Given the description of an element on the screen output the (x, y) to click on. 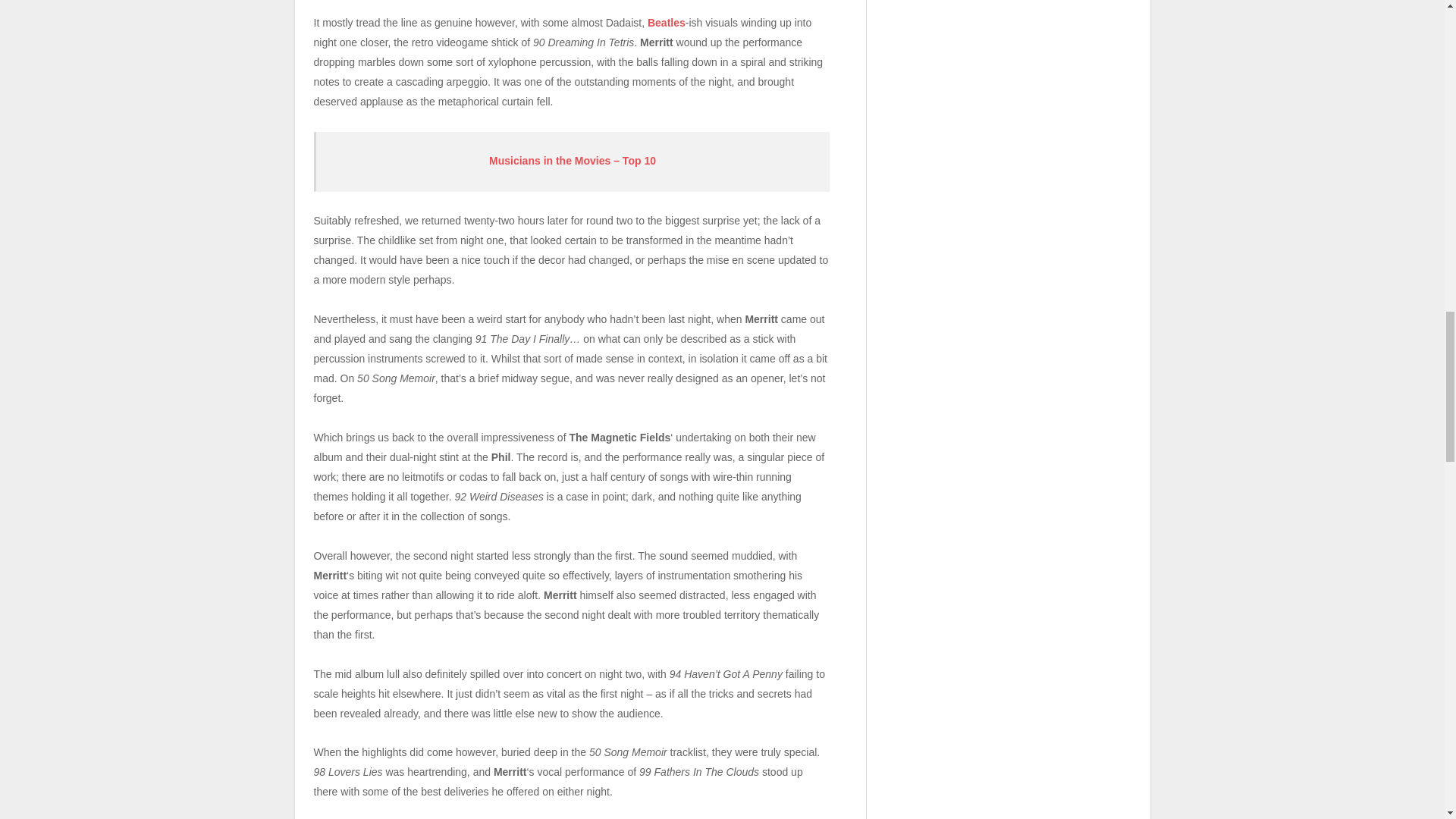
Beatles (666, 22)
